Given the description of an element on the screen output the (x, y) to click on. 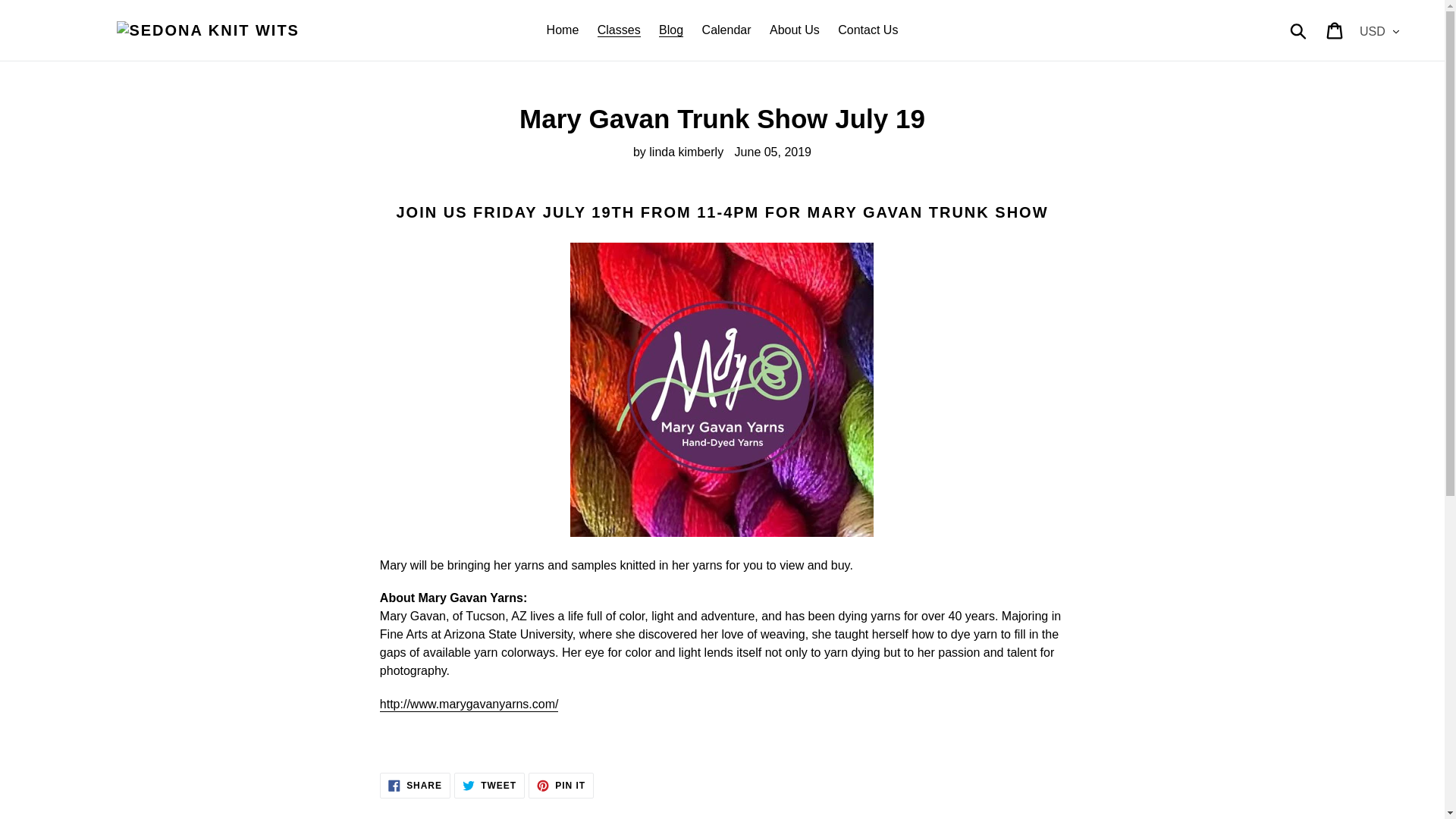
Contact Us (489, 785)
Submit (867, 29)
About Us (1299, 29)
Calendar (561, 785)
Home (794, 29)
Blog (414, 785)
Classes (726, 29)
Cart (562, 29)
